Given the description of an element on the screen output the (x, y) to click on. 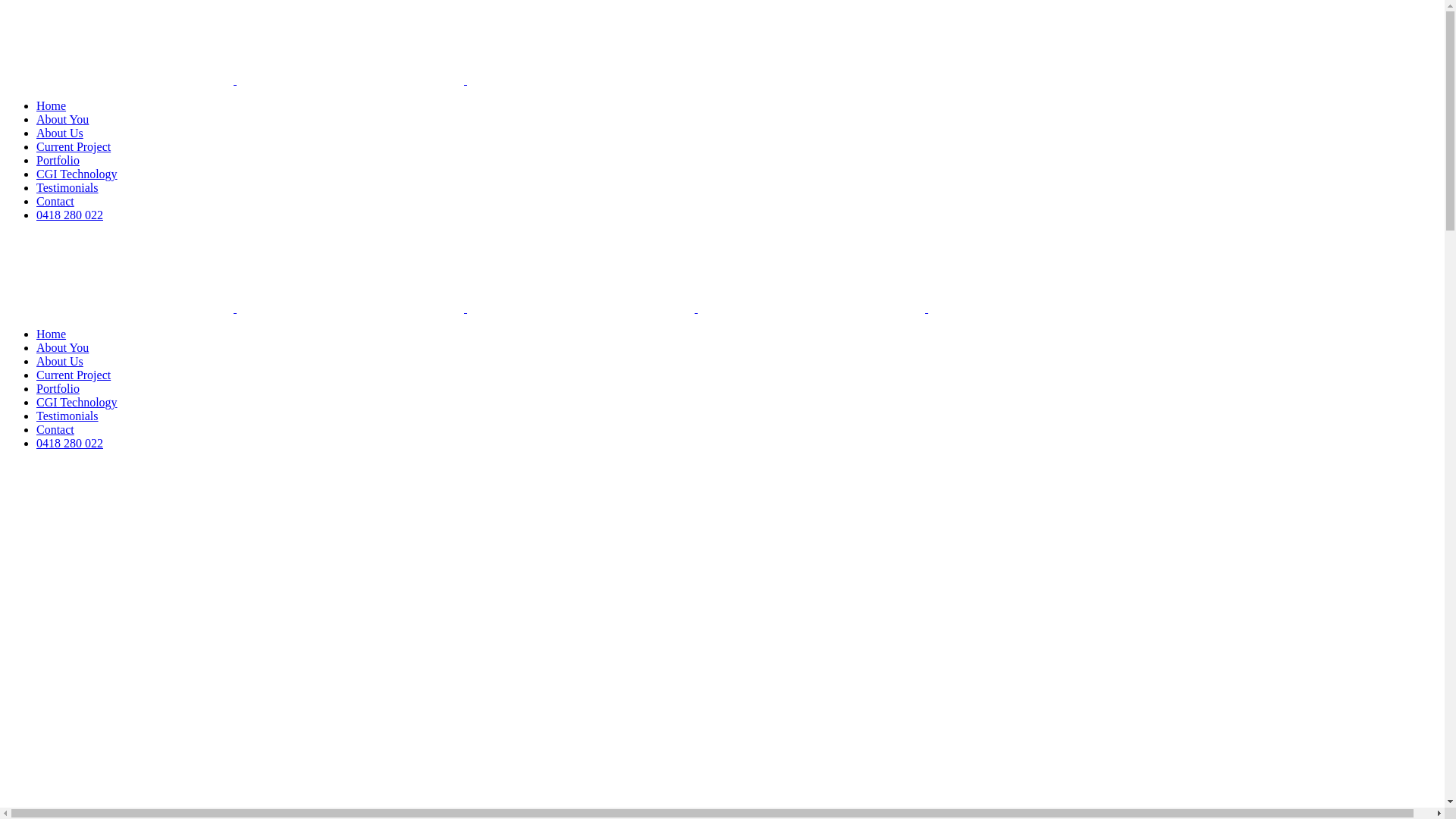
0418 280 022 Element type: text (69, 442)
Portfolio Element type: text (57, 159)
About Us Element type: text (59, 360)
About You Element type: text (62, 347)
About Us Element type: text (59, 132)
Home Element type: text (50, 105)
About You Element type: text (62, 118)
Current Project Element type: text (73, 374)
Current Project Element type: text (73, 146)
Portfolio Element type: text (57, 388)
CGI Technology Element type: text (76, 173)
Testimonials Element type: text (67, 415)
Contact Element type: text (55, 200)
Home Element type: text (50, 333)
Testimonials Element type: text (67, 187)
0418 280 022 Element type: text (69, 214)
CGI Technology Element type: text (76, 401)
Contact Element type: text (55, 429)
